Given the description of an element on the screen output the (x, y) to click on. 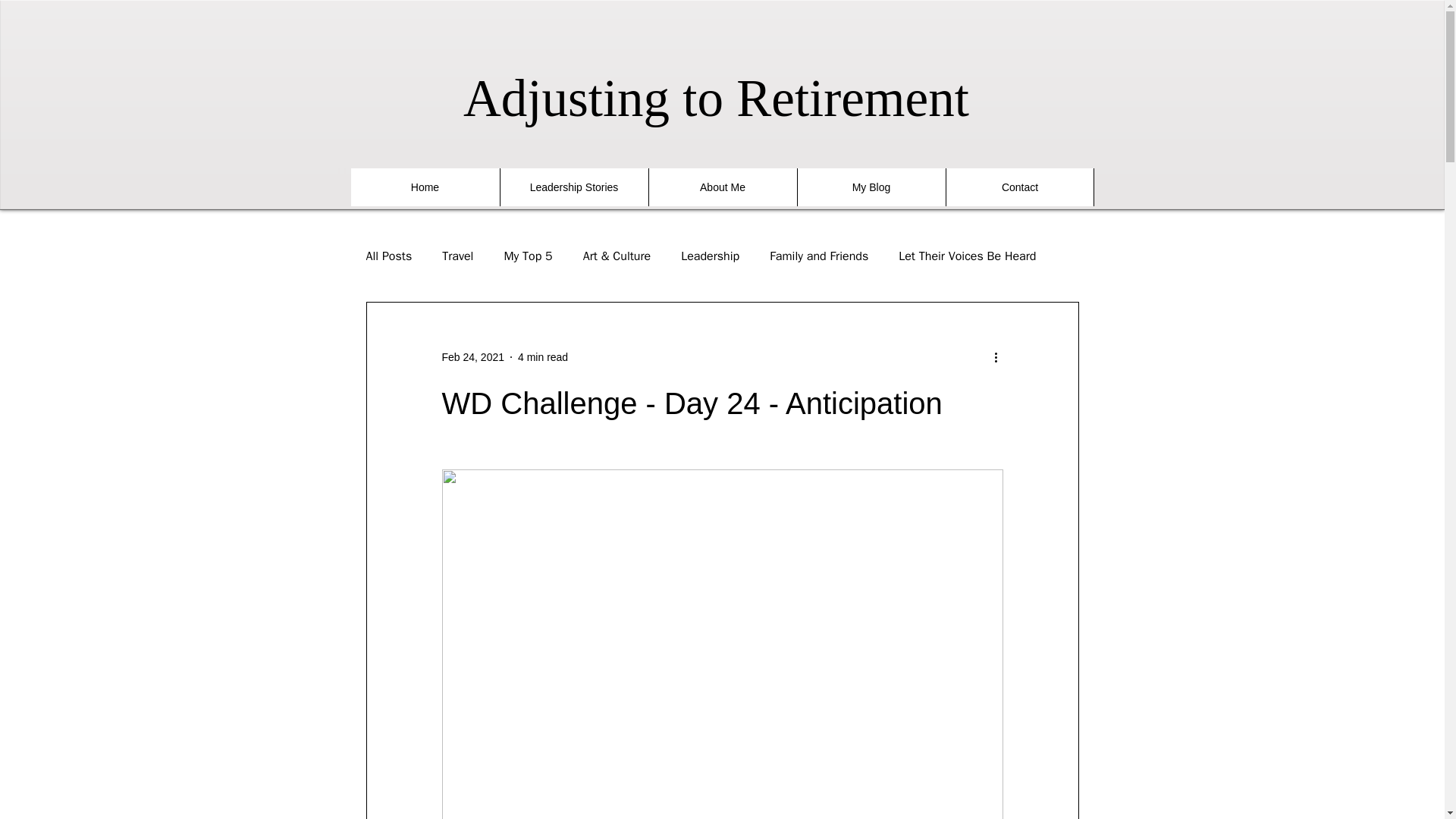
Family and Friends (818, 256)
Travel (457, 256)
Contact (1018, 187)
All Posts (388, 256)
Feb 24, 2021 (472, 356)
My Blog (870, 187)
Adjusting to Retirement  (722, 98)
Leadership Stories (573, 187)
About Me (721, 187)
Home (424, 187)
